Given the description of an element on the screen output the (x, y) to click on. 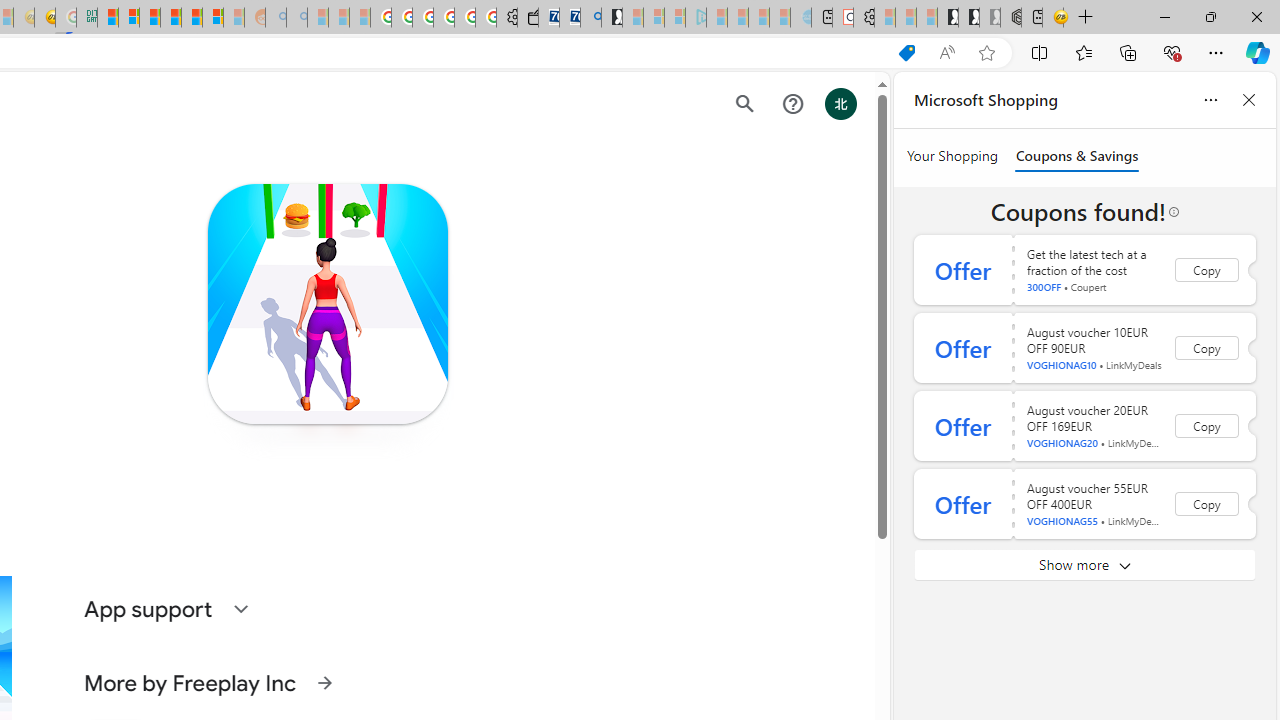
Expand (240, 608)
Kinda Frugal - MSN (191, 17)
